Given the description of an element on the screen output the (x, y) to click on. 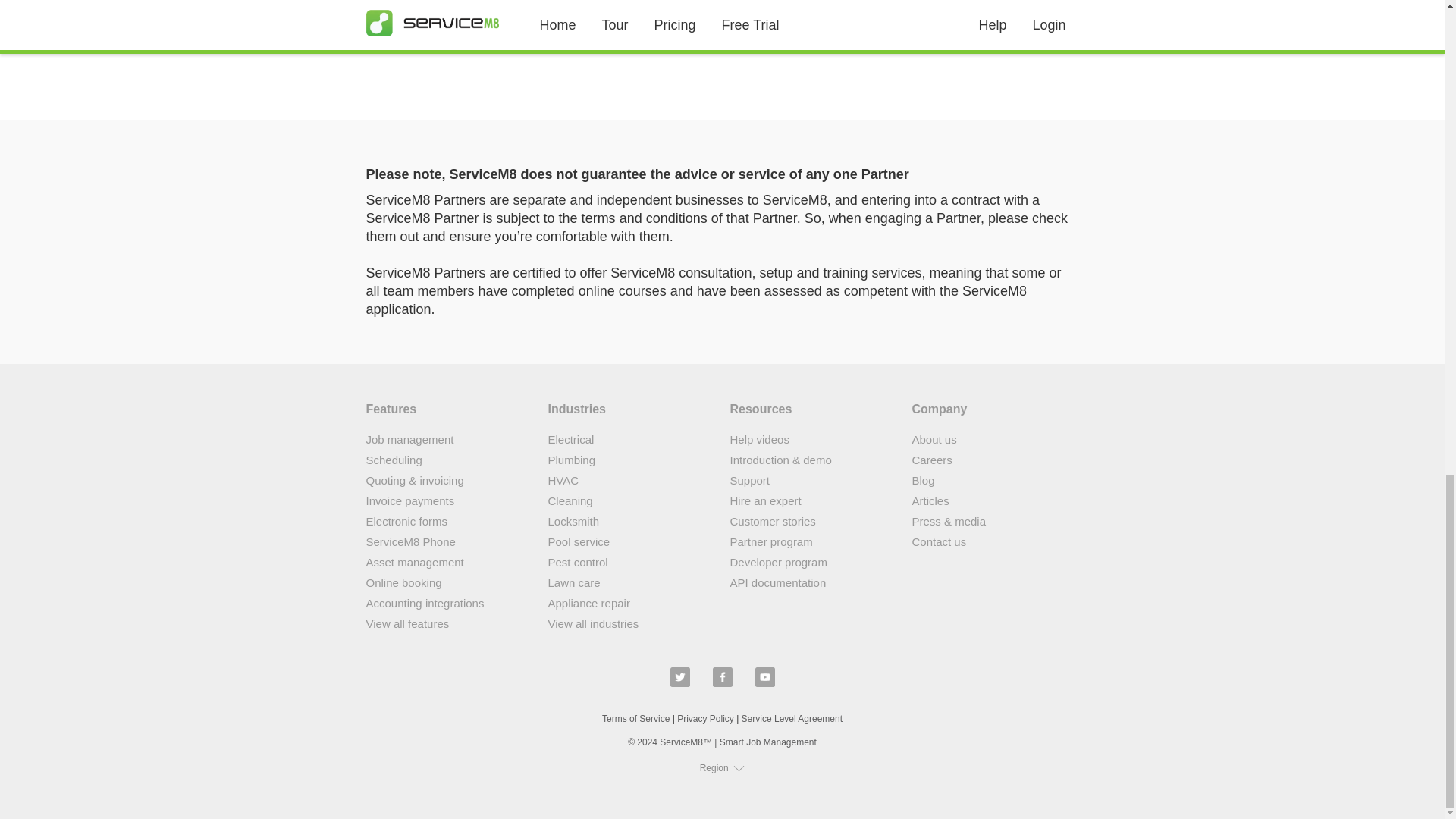
Scheduling (448, 462)
Accounting integrations (448, 606)
Appliance repair (630, 606)
Help videos (812, 442)
Online booking (448, 585)
API documentation (812, 585)
Pool service (630, 544)
Invoice payments (448, 503)
Support (812, 483)
Electronic forms (448, 524)
HVAC (630, 483)
View all features (448, 626)
Asset management (448, 565)
Developer program (812, 565)
Cleaning (630, 503)
